Given the description of an element on the screen output the (x, y) to click on. 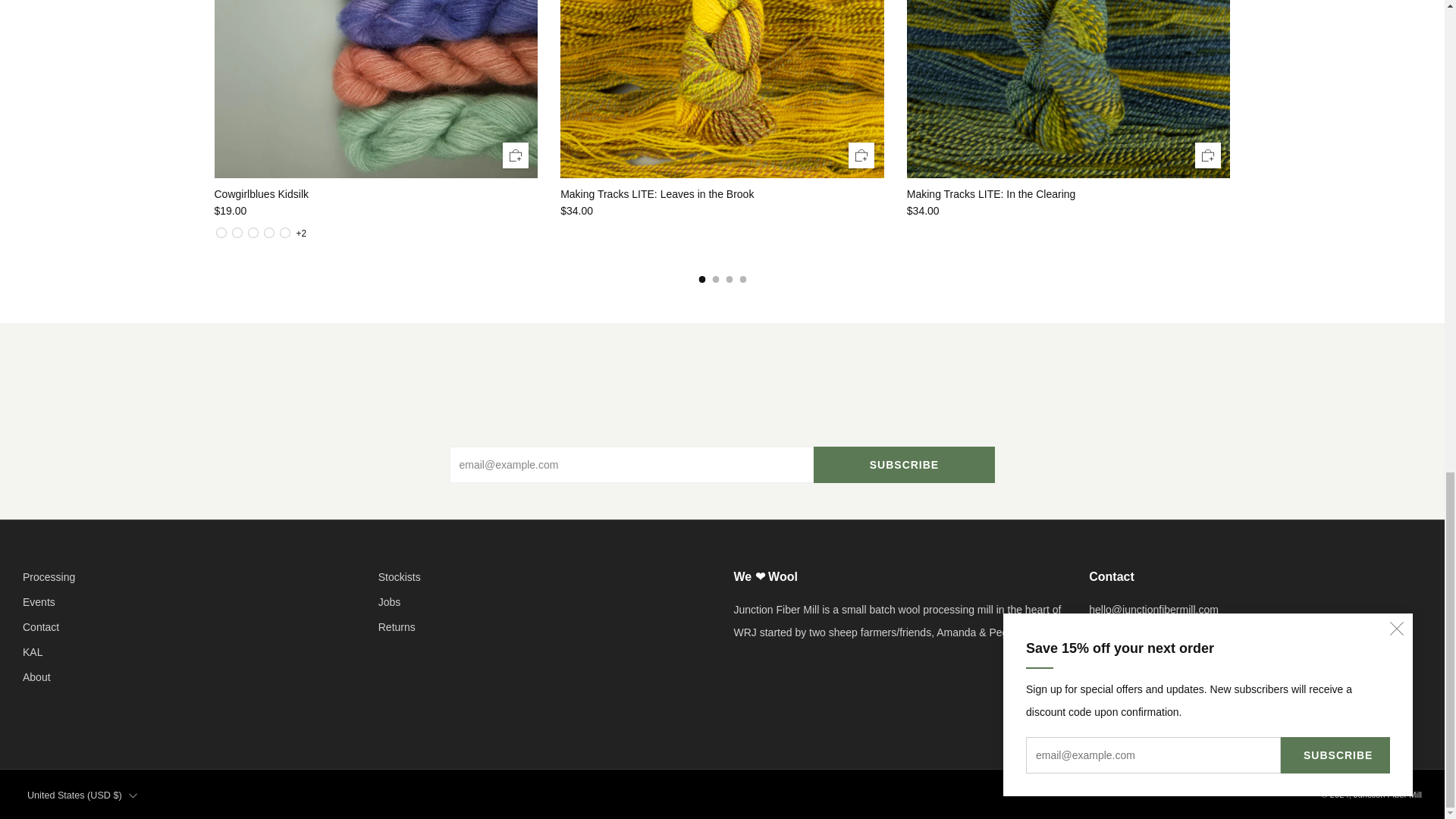
Making Tracks LITE: In the Clearing (1068, 210)
Making Tracks LITE: Leaves in the Brook (721, 210)
Making Tracks LITE: Leaves in the Brook (721, 193)
RavelryIcon-Black-32x32 Created with Sketch. (1222, 715)
Cowgirlblues Kidsilk (375, 193)
Cowgirlblues Kidsilk (300, 233)
Making Tracks LITE: In the Clearing (1068, 193)
Cowgirlblues Kidsilk (375, 210)
